Given the description of an element on the screen output the (x, y) to click on. 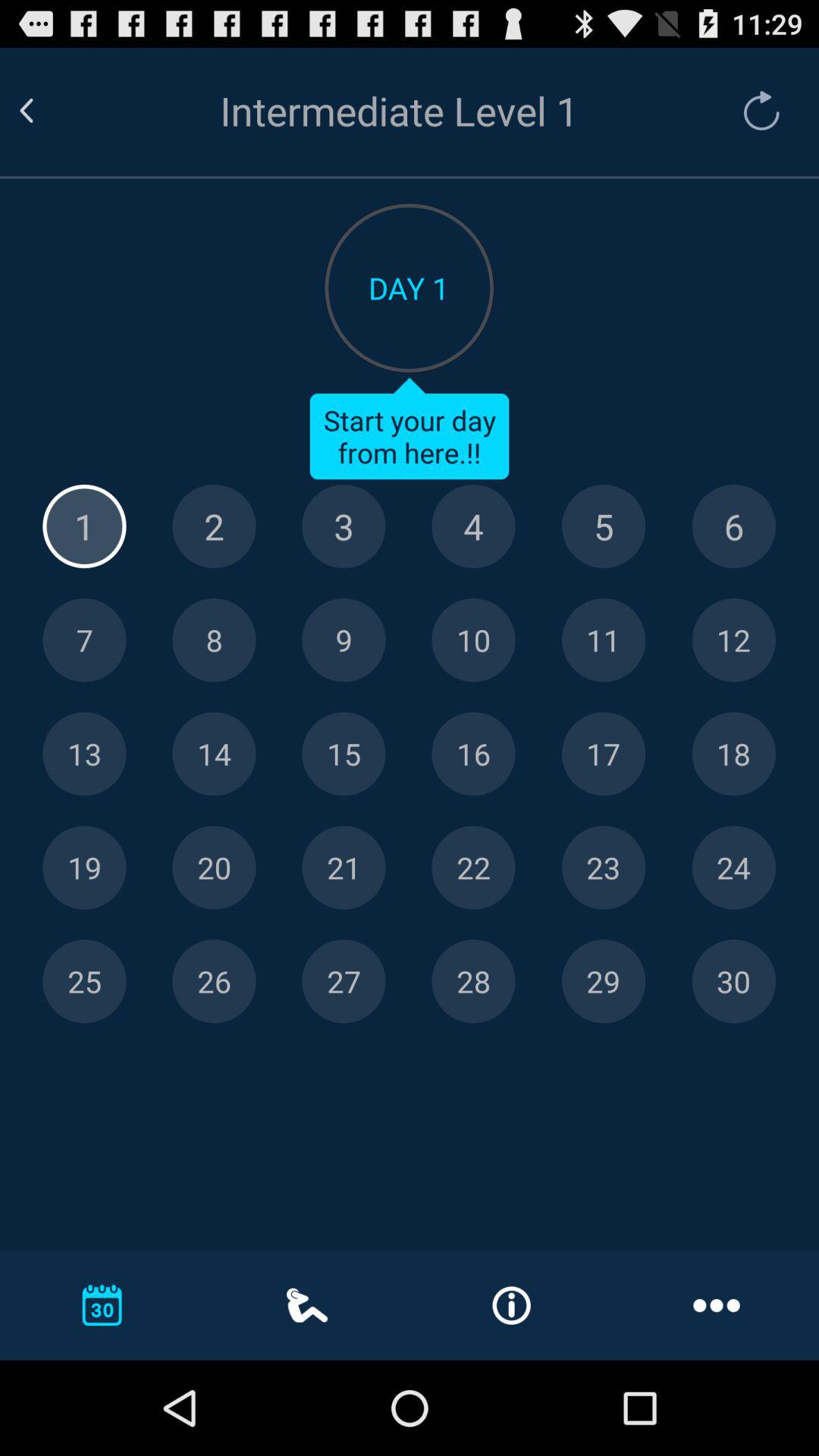
return to the previous page (44, 110)
